Given the description of an element on the screen output the (x, y) to click on. 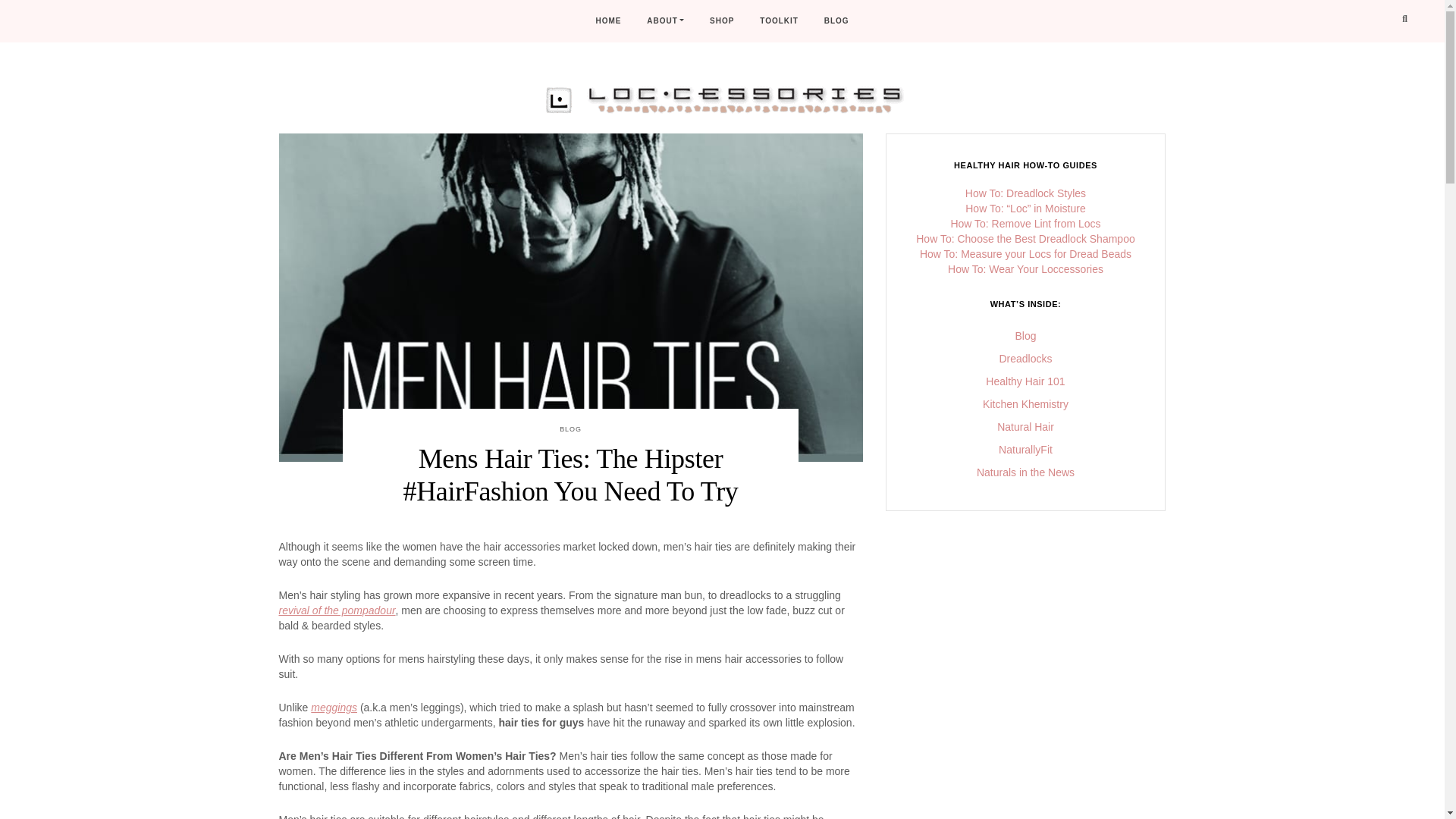
About (664, 21)
Home (607, 21)
BLOG (836, 21)
revival of the pompadour (337, 609)
TOOLKIT (778, 21)
Dreadlocks (1024, 358)
Shop (721, 21)
HOME (607, 21)
Kitchen Khemistry (1025, 404)
SHOP (721, 21)
